Given the description of an element on the screen output the (x, y) to click on. 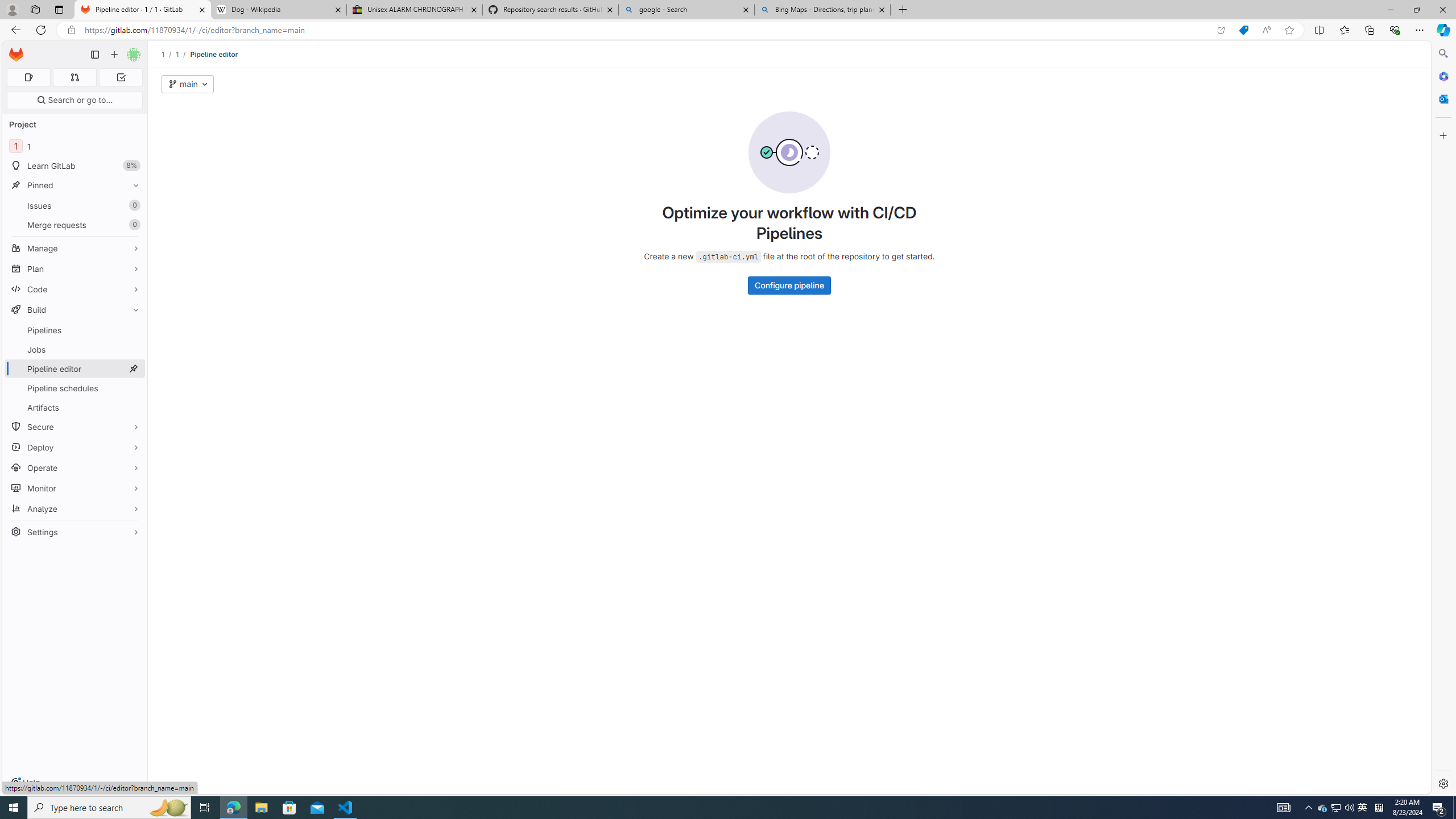
Open in app (1220, 29)
Manage (74, 248)
Merge requests0 (74, 224)
Primary navigation sidebar (94, 54)
Assigned issues 0 (28, 76)
Issues0 (74, 205)
